Given the description of an element on the screen output the (x, y) to click on. 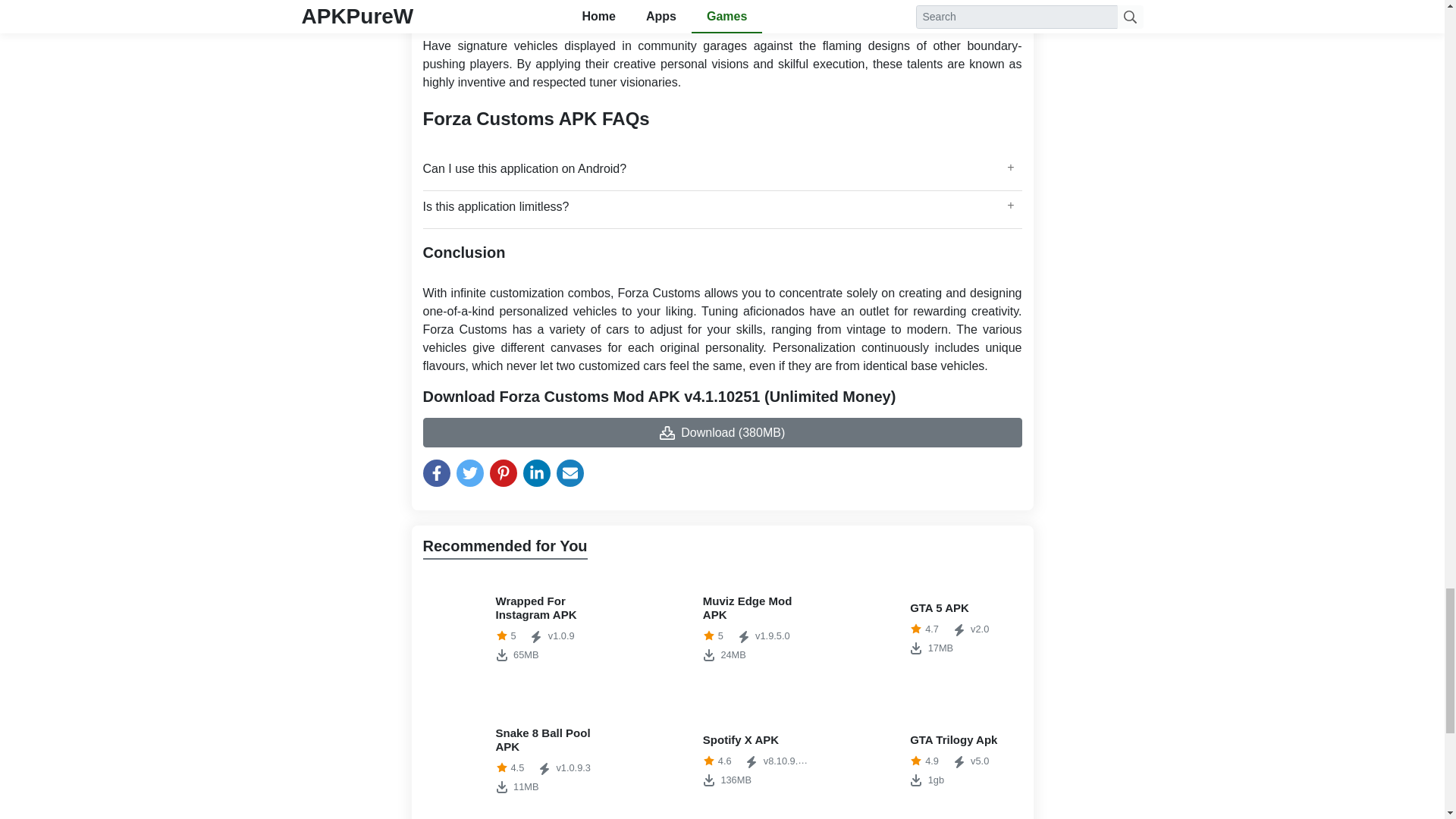
 GTA 5 APK (929, 628)
 Wrapped For Instagram APK  (515, 628)
 GTA Trilogy Apk (721, 628)
 Spotify X APK (515, 628)
 Muviz Edge Mod APK (515, 760)
 Snake 8 Ball Pool APK  (929, 760)
